Given the description of an element on the screen output the (x, y) to click on. 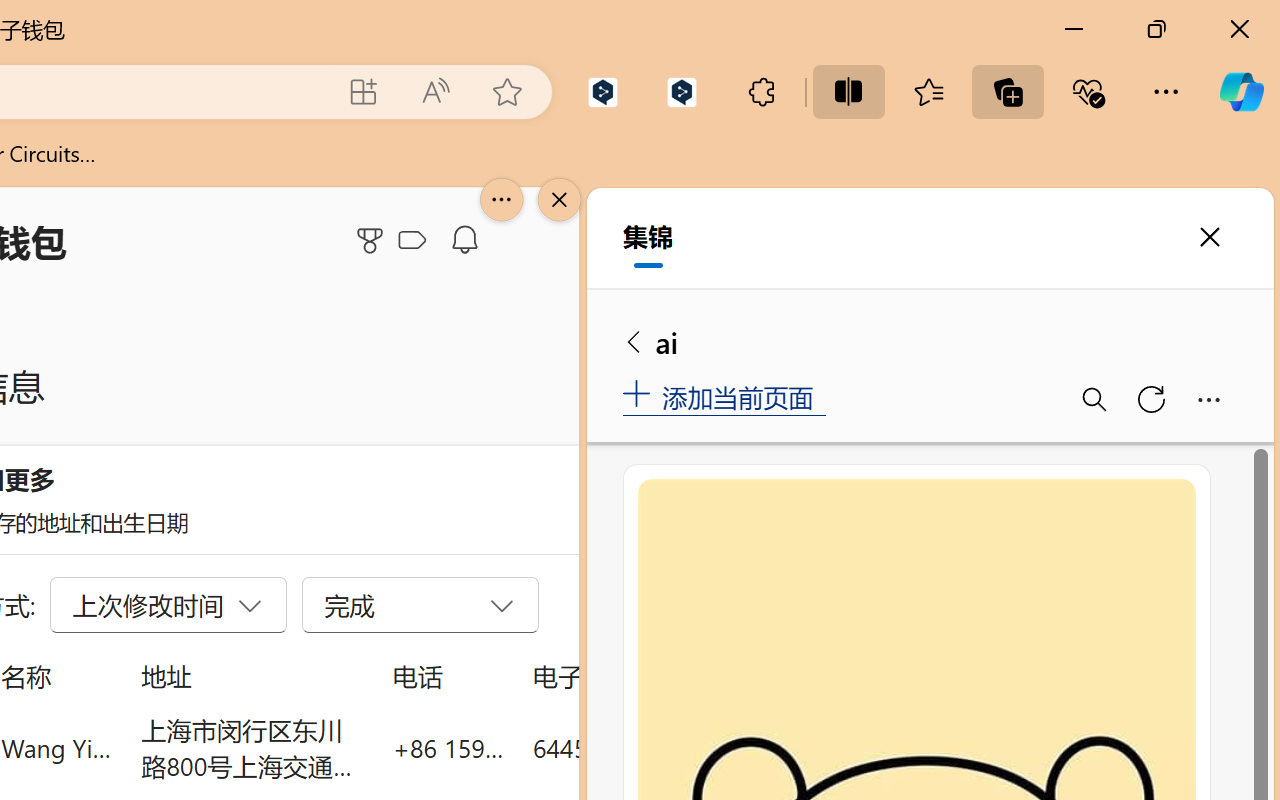
Microsoft Cashback (415, 241)
Class: ___1lmltc5 f1agt3bx f12qytpq (411, 241)
